Given the description of an element on the screen output the (x, y) to click on. 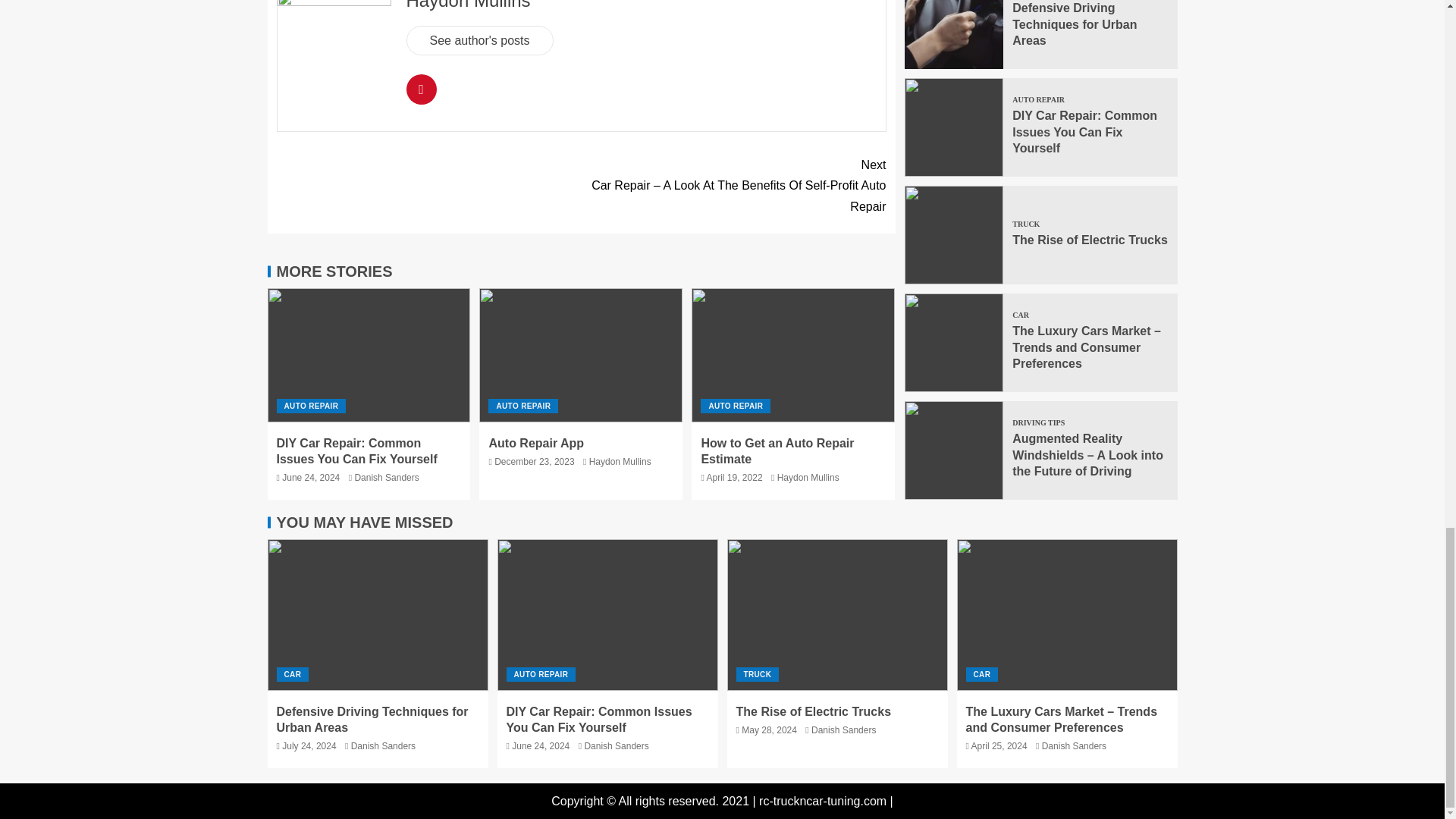
AUTO REPAIR (522, 405)
Auto Repair App (535, 442)
Haydon Mullins (808, 477)
See author's posts (479, 40)
DIY Car Repair: Common Issues You Can Fix Yourself (356, 451)
How to Get an Auto Repair Estimate (776, 451)
Danish Sanders (386, 477)
Haydon Mullins (468, 5)
AUTO REPAIR (311, 405)
AUTO REPAIR (735, 405)
